Given the description of an element on the screen output the (x, y) to click on. 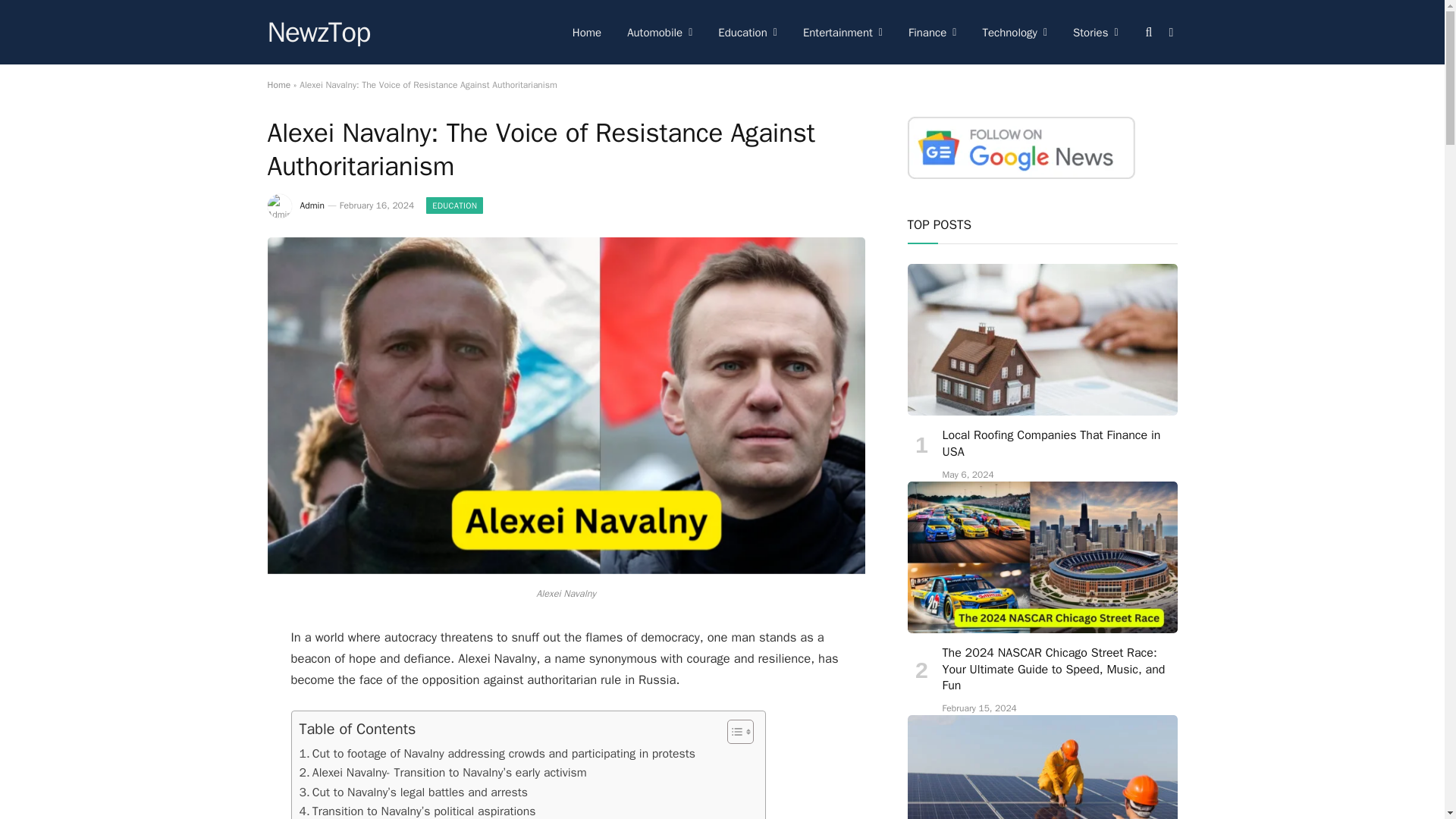
Entertainment (842, 32)
Automobile (659, 32)
Education (747, 32)
NewzTop (317, 32)
Newz Top (317, 32)
Finance (932, 32)
